Given the description of an element on the screen output the (x, y) to click on. 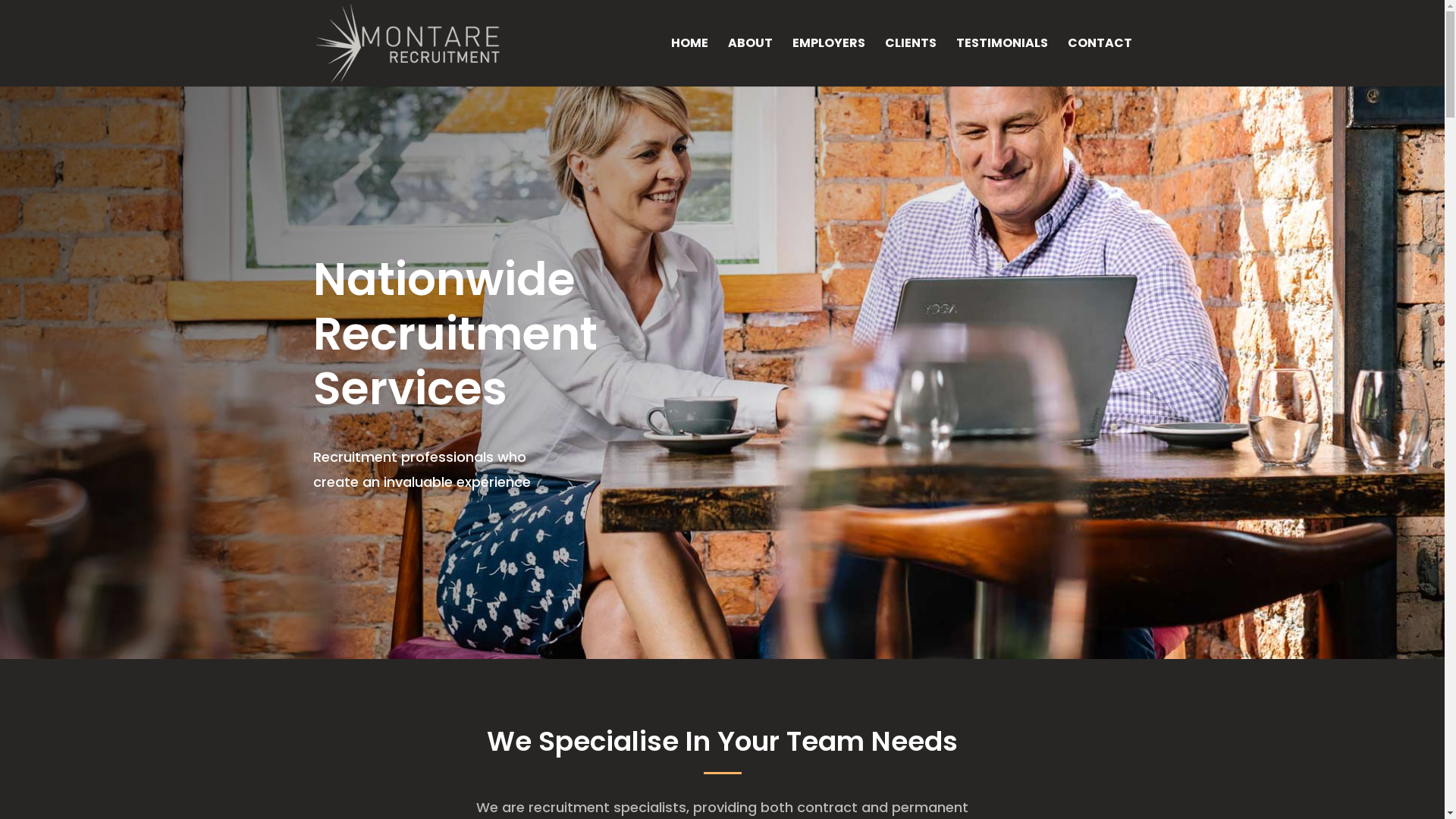
CLIENTS Element type: text (909, 61)
TESTIMONIALS Element type: text (1001, 61)
CONTACT Element type: text (1099, 61)
EMPLOYERS Element type: text (827, 61)
HOME Element type: text (688, 61)
ABOUT Element type: text (750, 61)
